Given the description of an element on the screen output the (x, y) to click on. 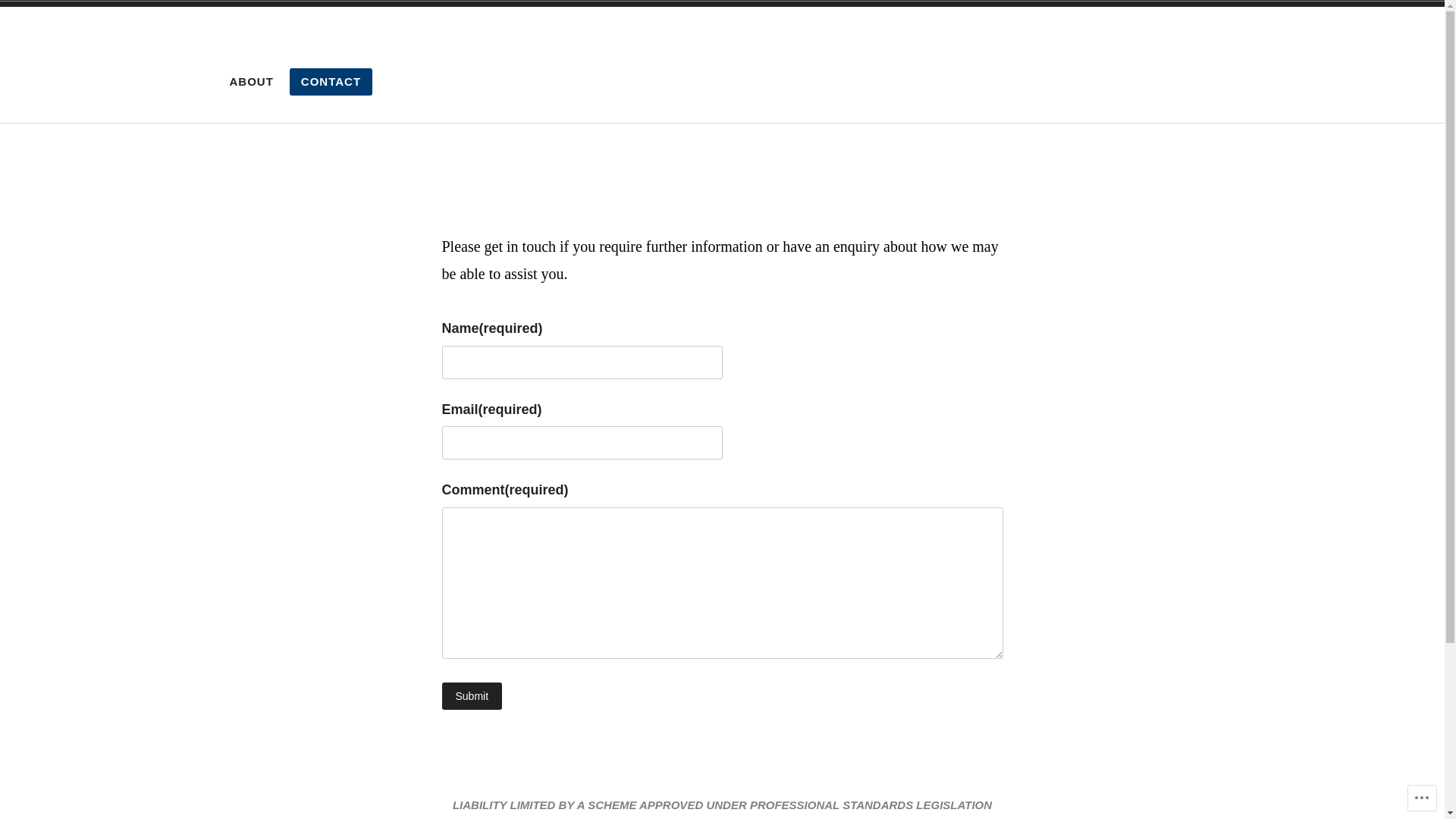
Delta Accounting Element type: text (396, 63)
CONTACT Element type: text (330, 81)
ABOUT Element type: text (251, 81)
Submit Element type: text (471, 695)
